Given the description of an element on the screen output the (x, y) to click on. 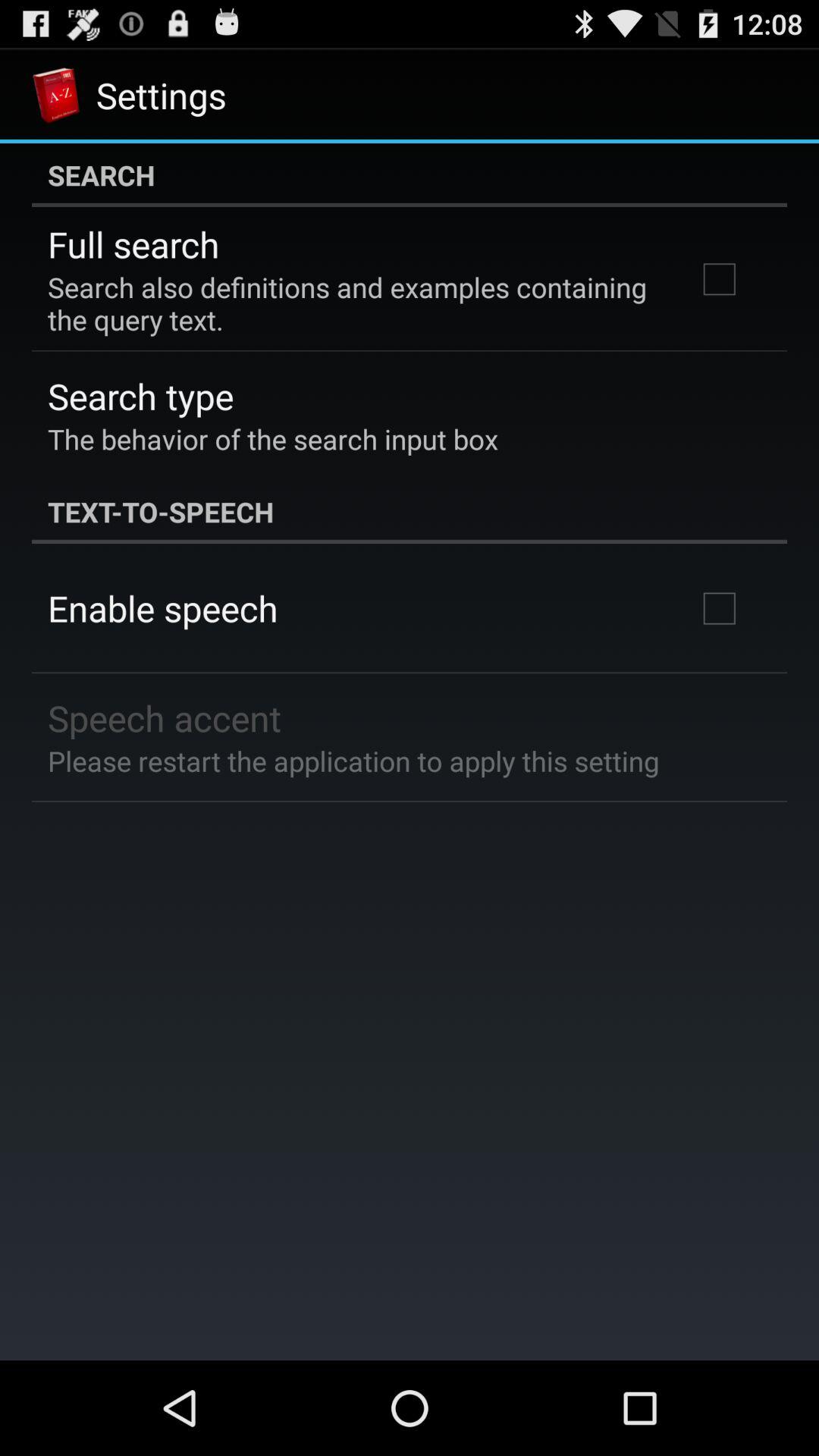
jump until the enable speech app (162, 608)
